Given the description of an element on the screen output the (x, y) to click on. 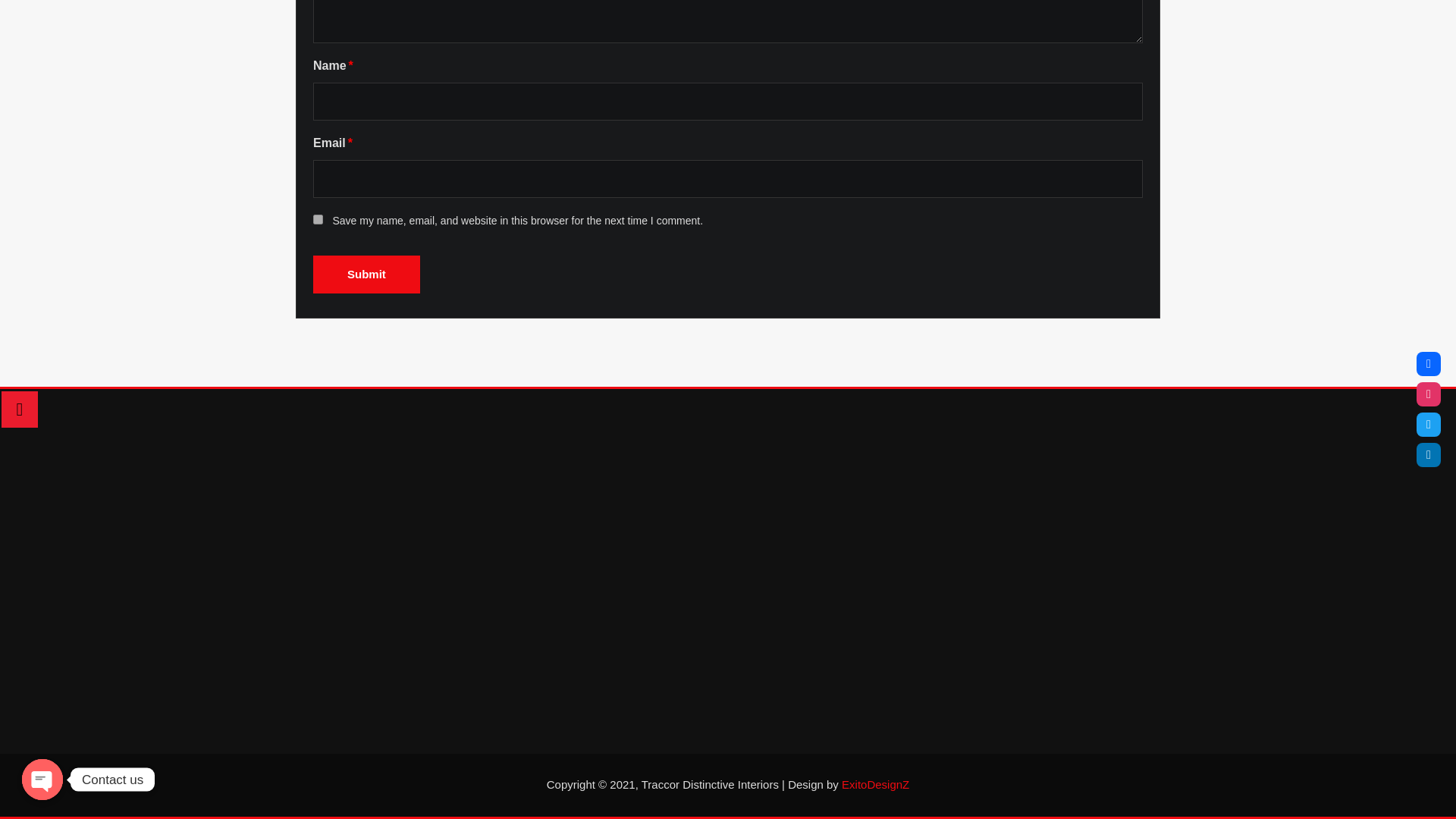
Submit (366, 274)
